Given the description of an element on the screen output the (x, y) to click on. 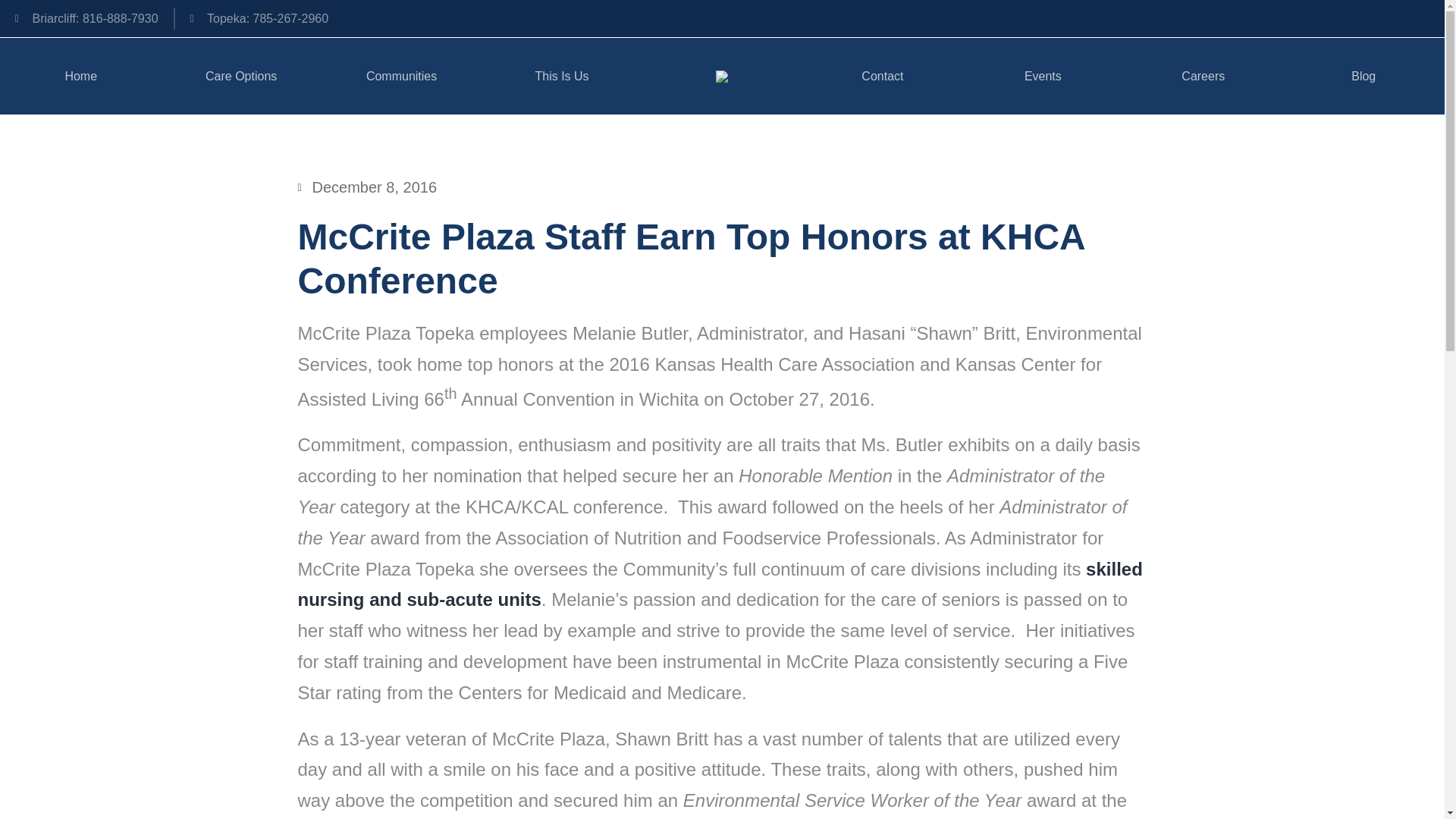
Briarcliff: 816-888-7930 (86, 18)
Home (80, 75)
Events (1042, 75)
Contact (882, 75)
Communities (401, 75)
This Is Us (561, 75)
Care Options (240, 75)
Topeka: 785-267-2960 (259, 18)
Careers (1202, 75)
Blog (1362, 75)
